Given the description of an element on the screen output the (x, y) to click on. 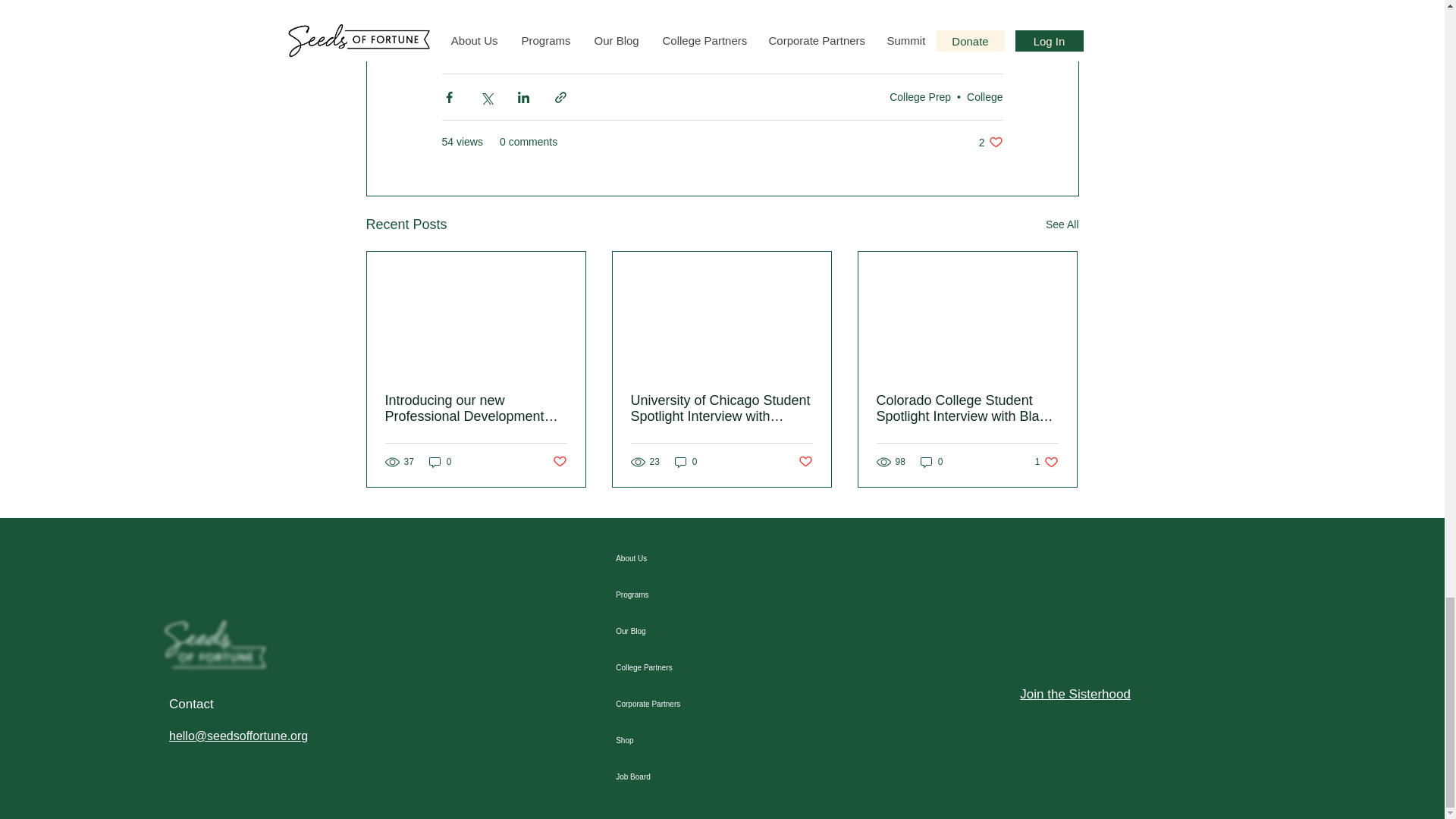
See All (990, 142)
College (1061, 224)
Seeds of Fortune Logo (984, 96)
College Prep (215, 643)
